Given the description of an element on the screen output the (x, y) to click on. 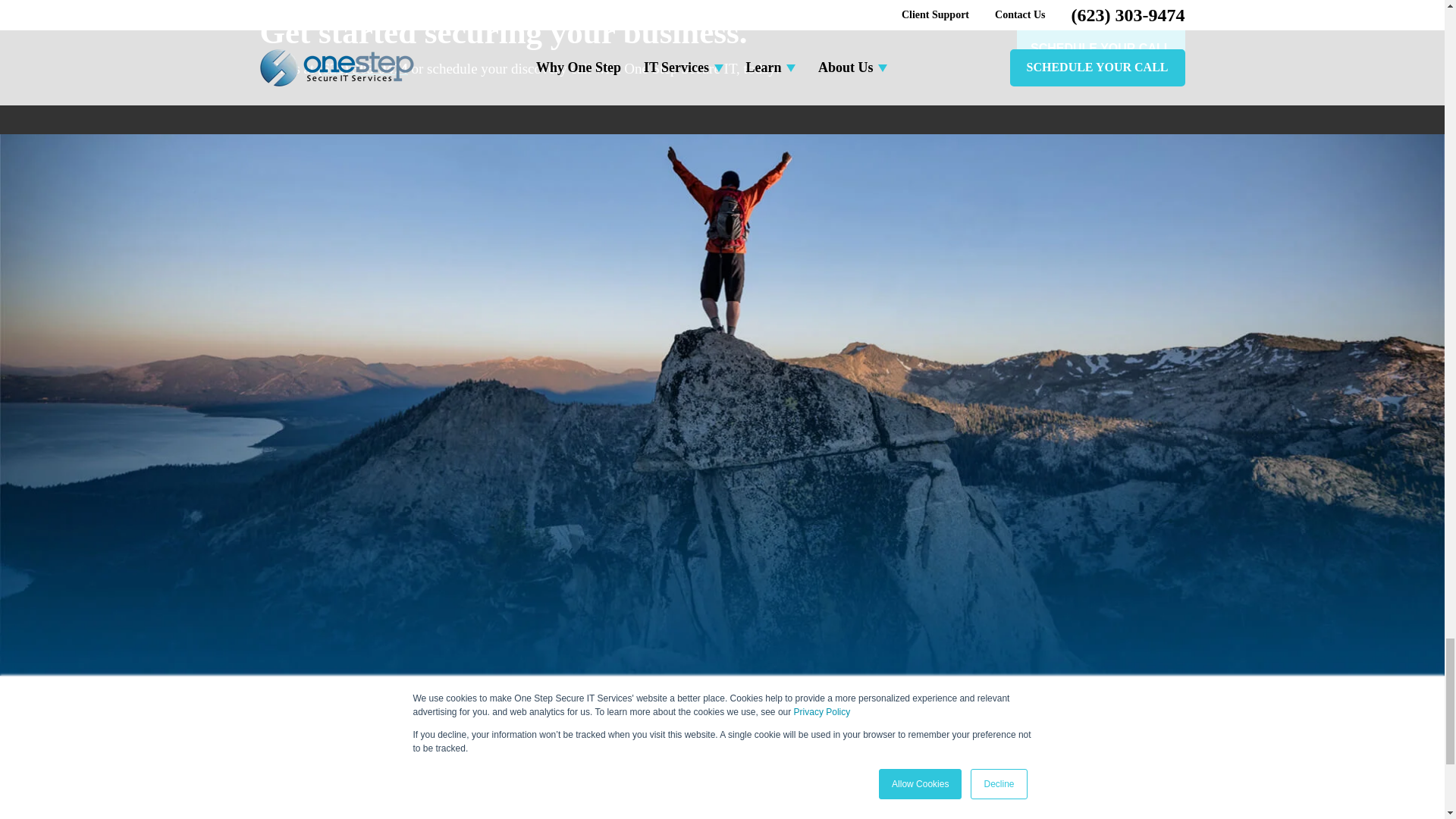
Schedule Your Call (1100, 46)
